Given the description of an element on the screen output the (x, y) to click on. 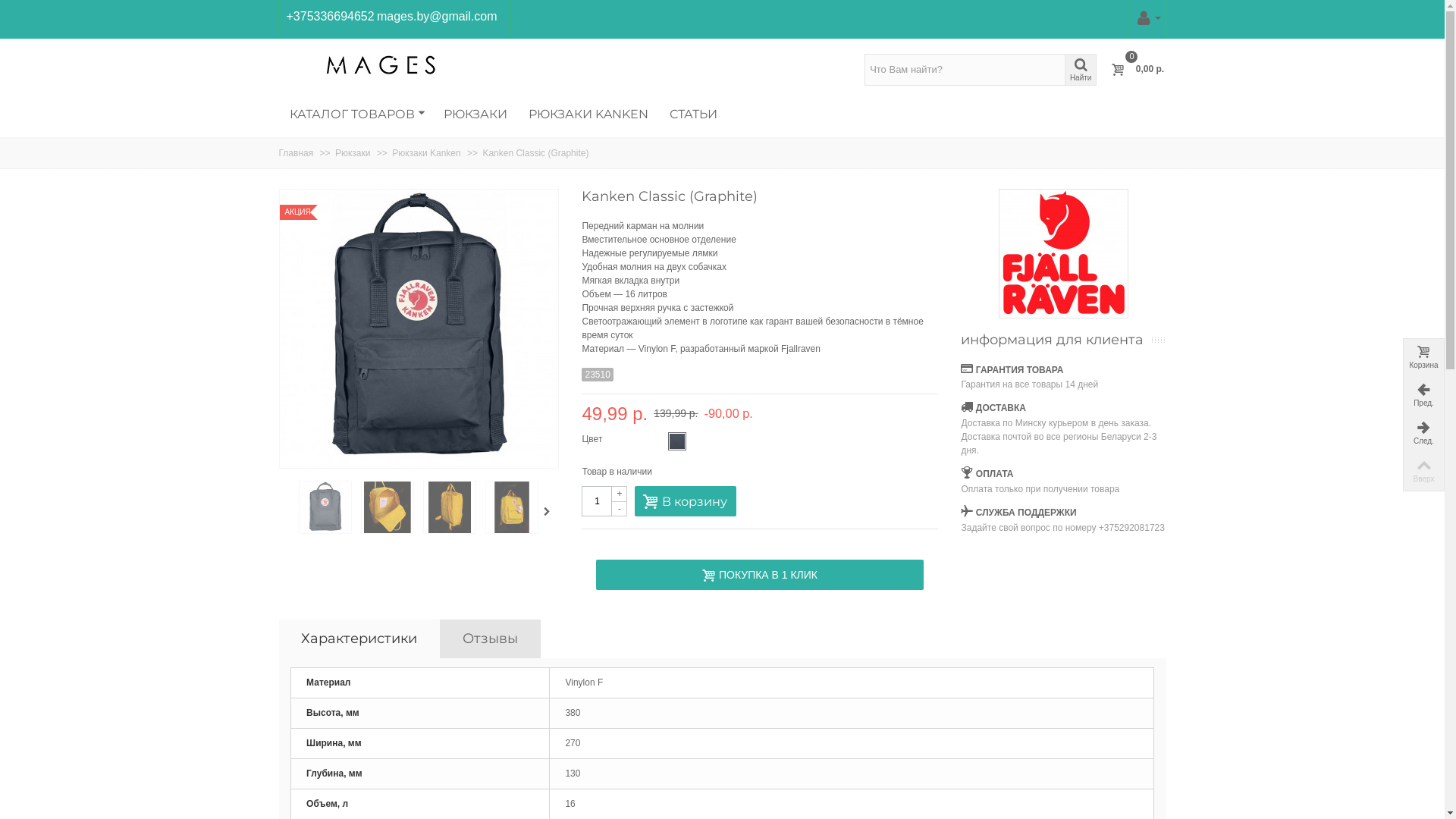
+ Element type: text (619, 493)
Mages.BY Element type: hover (379, 63)
Graphite Element type: hover (676, 440)
Kanken Classic (Graphite) Element type: text (535, 152)
- Element type: text (619, 508)
mages.by@gmail.com Element type: text (436, 17)
+375336694652 Element type: text (330, 17)
